Given the description of an element on the screen output the (x, y) to click on. 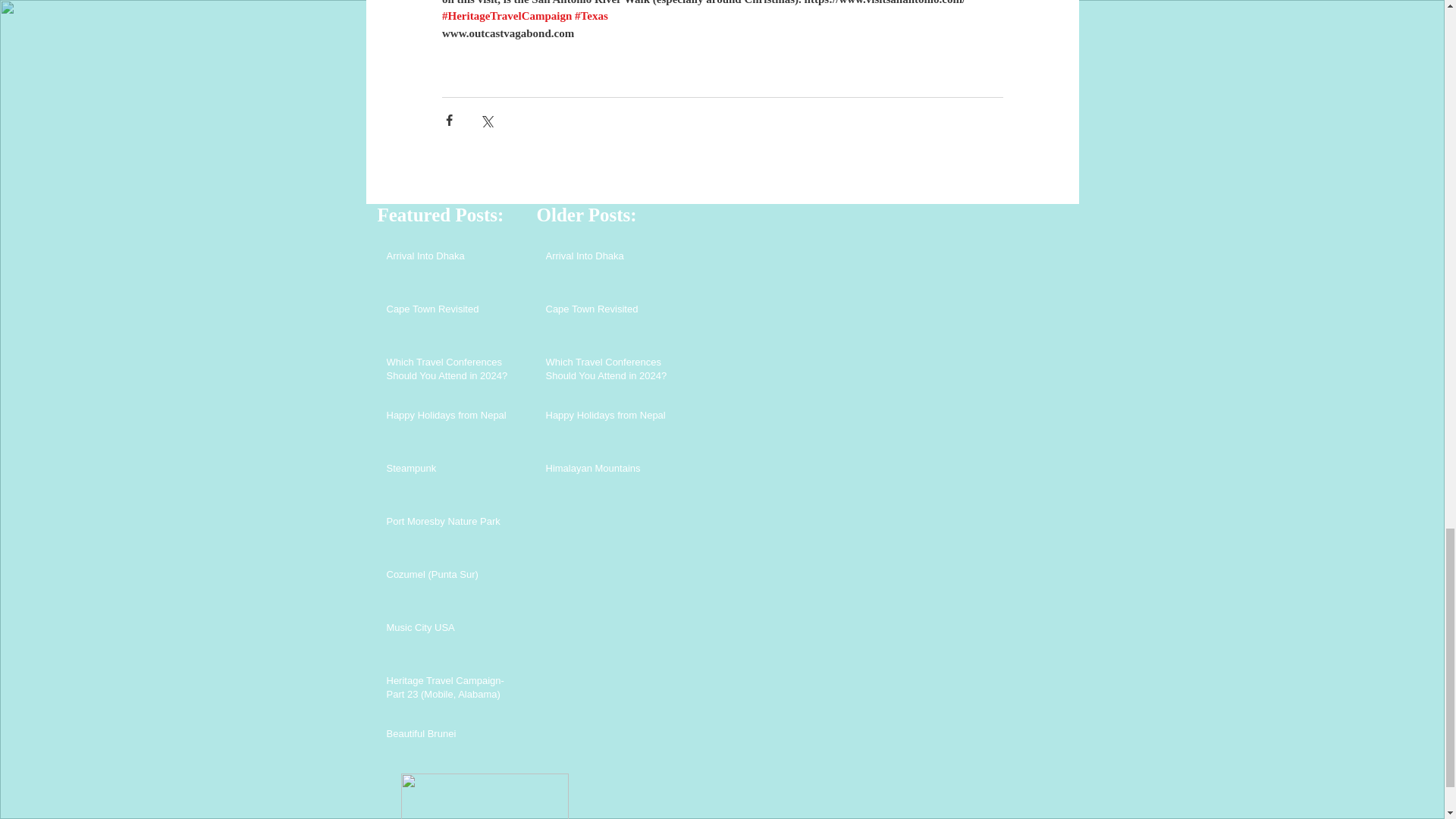
Arrival Into Dhaka (451, 259)
White-Brainz-Magazine-Logo.png (483, 796)
Arrival Into Dhaka (611, 259)
Beautiful Brunei (451, 736)
Which Travel Conferences Should You Attend in 2024? (611, 372)
Steampunk (451, 471)
Which Travel Conferences Should You Attend in 2024? (451, 372)
Happy Holidays from Nepal (611, 418)
Happy Holidays from Nepal (451, 418)
Himalayan Mountains (611, 471)
